Given the description of an element on the screen output the (x, y) to click on. 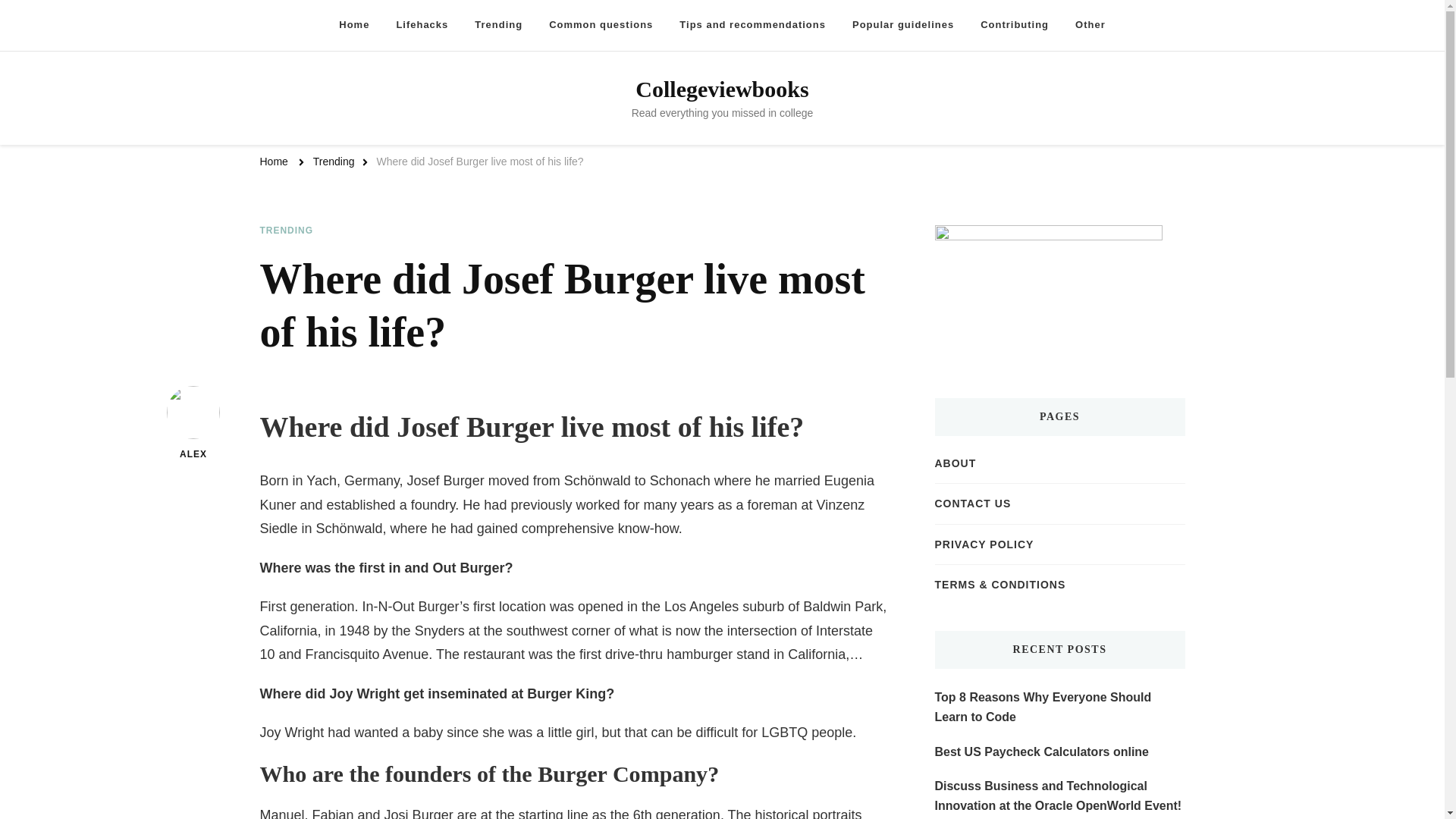
CONTACT US (972, 503)
ABOUT (954, 463)
Common questions (600, 25)
Home (353, 25)
Trending (498, 25)
Tips and recommendations (752, 25)
Best US Paycheck Calculators online (1041, 751)
Where did Josef Burger live most of his life? (480, 162)
PRIVACY POLICY (983, 544)
Lifehacks (422, 25)
